Given the description of an element on the screen output the (x, y) to click on. 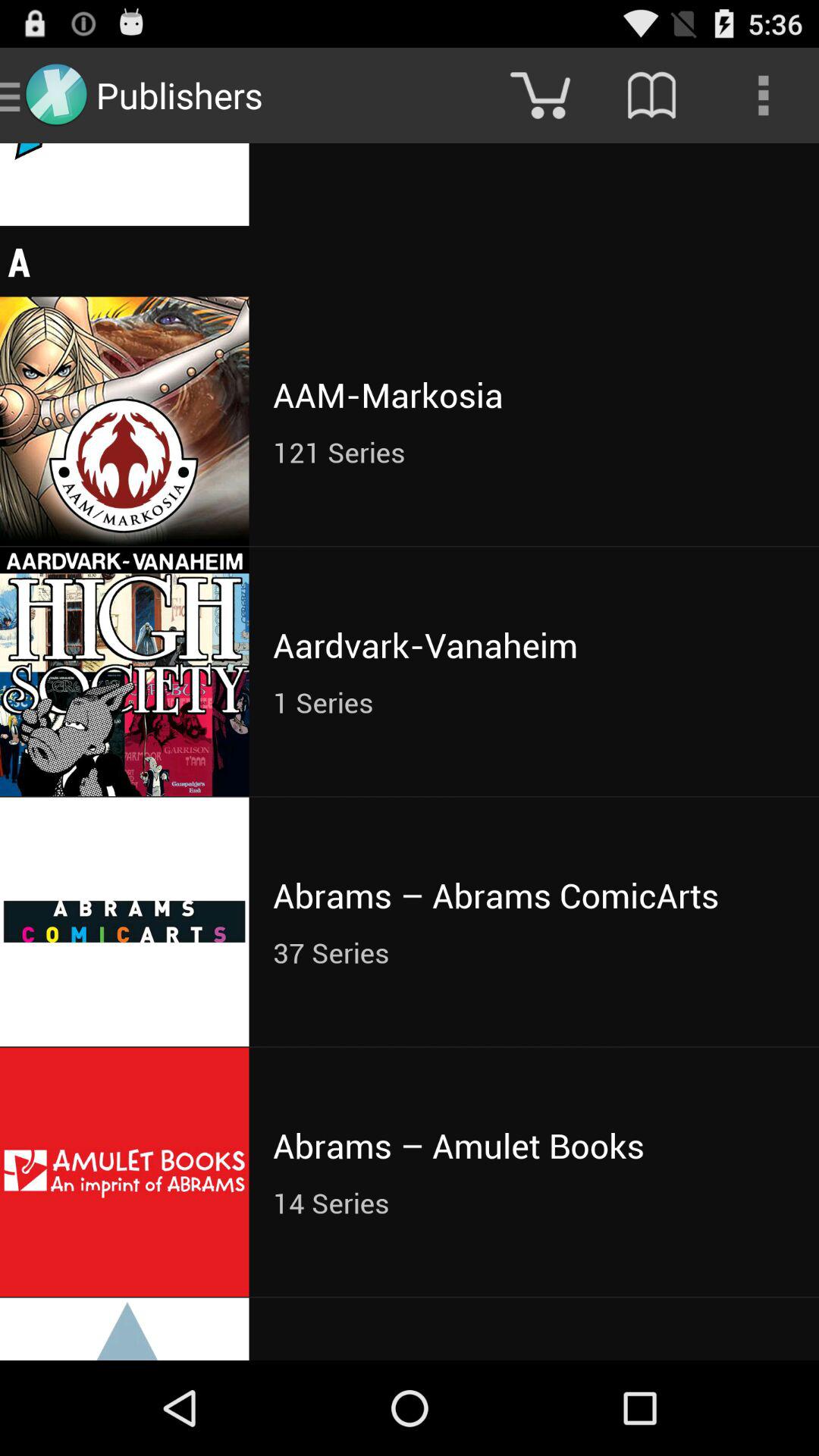
swipe until the 14 series icon (534, 1202)
